Given the description of an element on the screen output the (x, y) to click on. 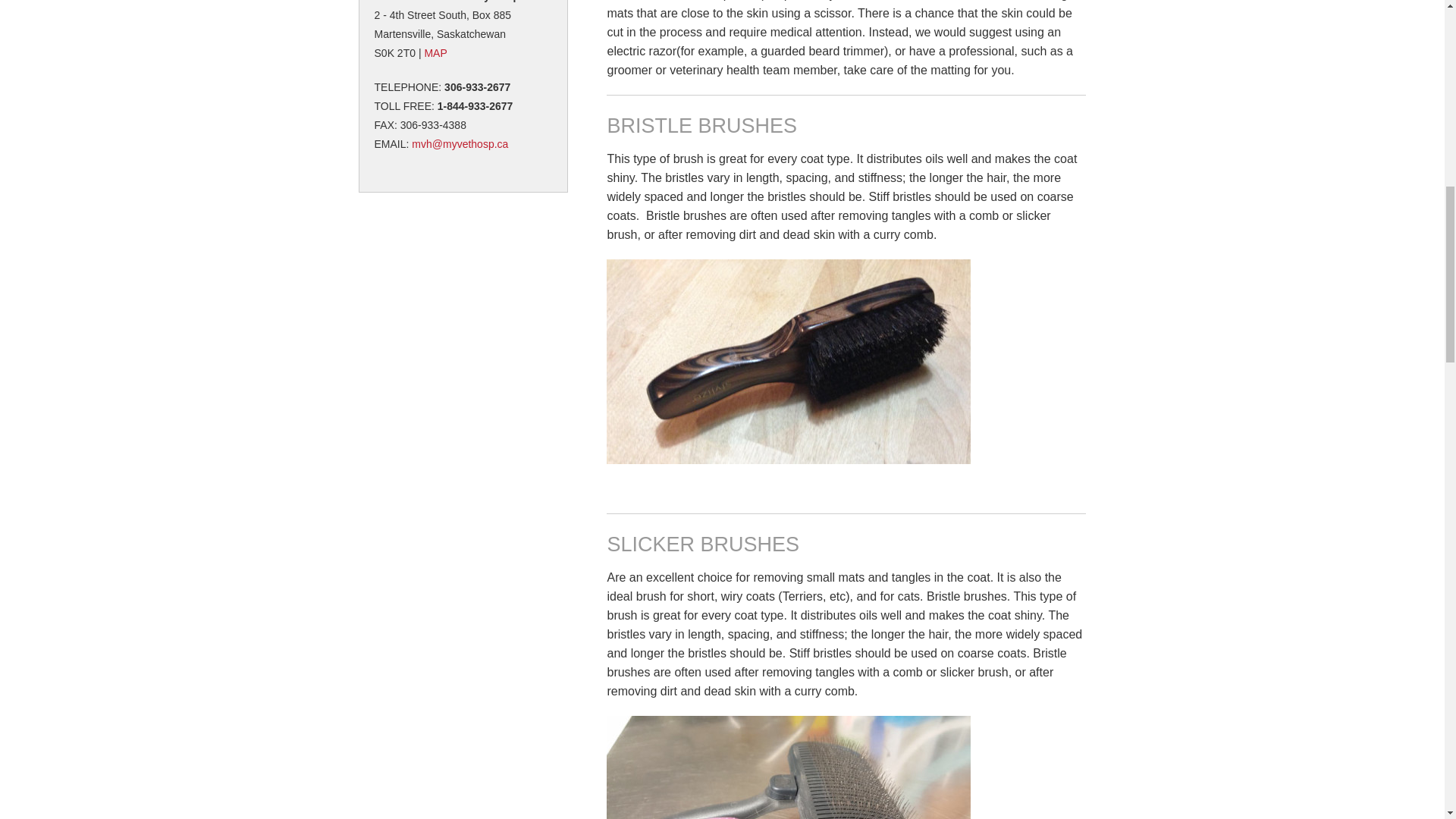
MAP (434, 52)
